Given the description of an element on the screen output the (x, y) to click on. 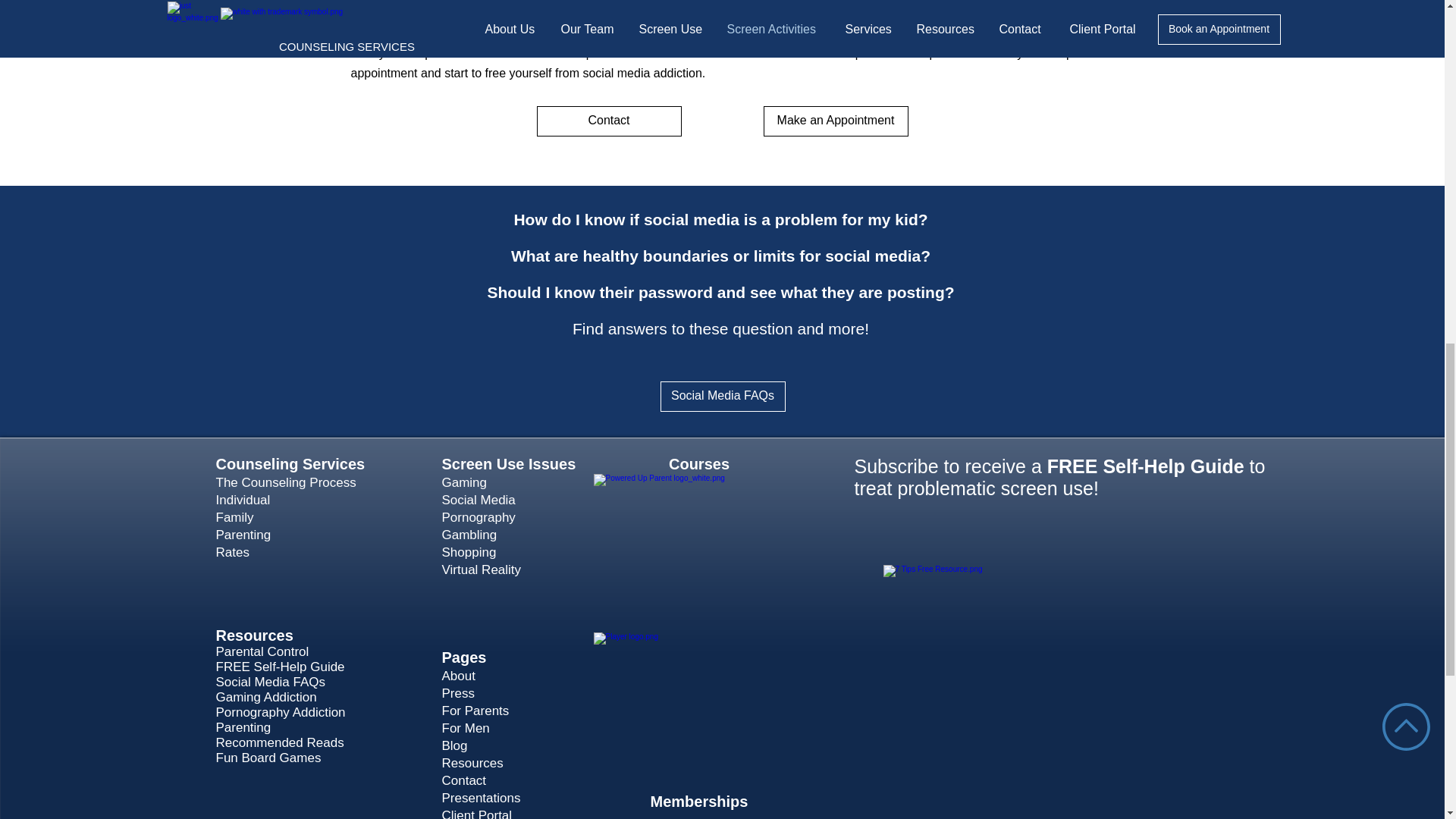
Make an Appointment (834, 121)
Social Media FAQs (721, 396)
Contact (609, 121)
